Given the description of an element on the screen output the (x, y) to click on. 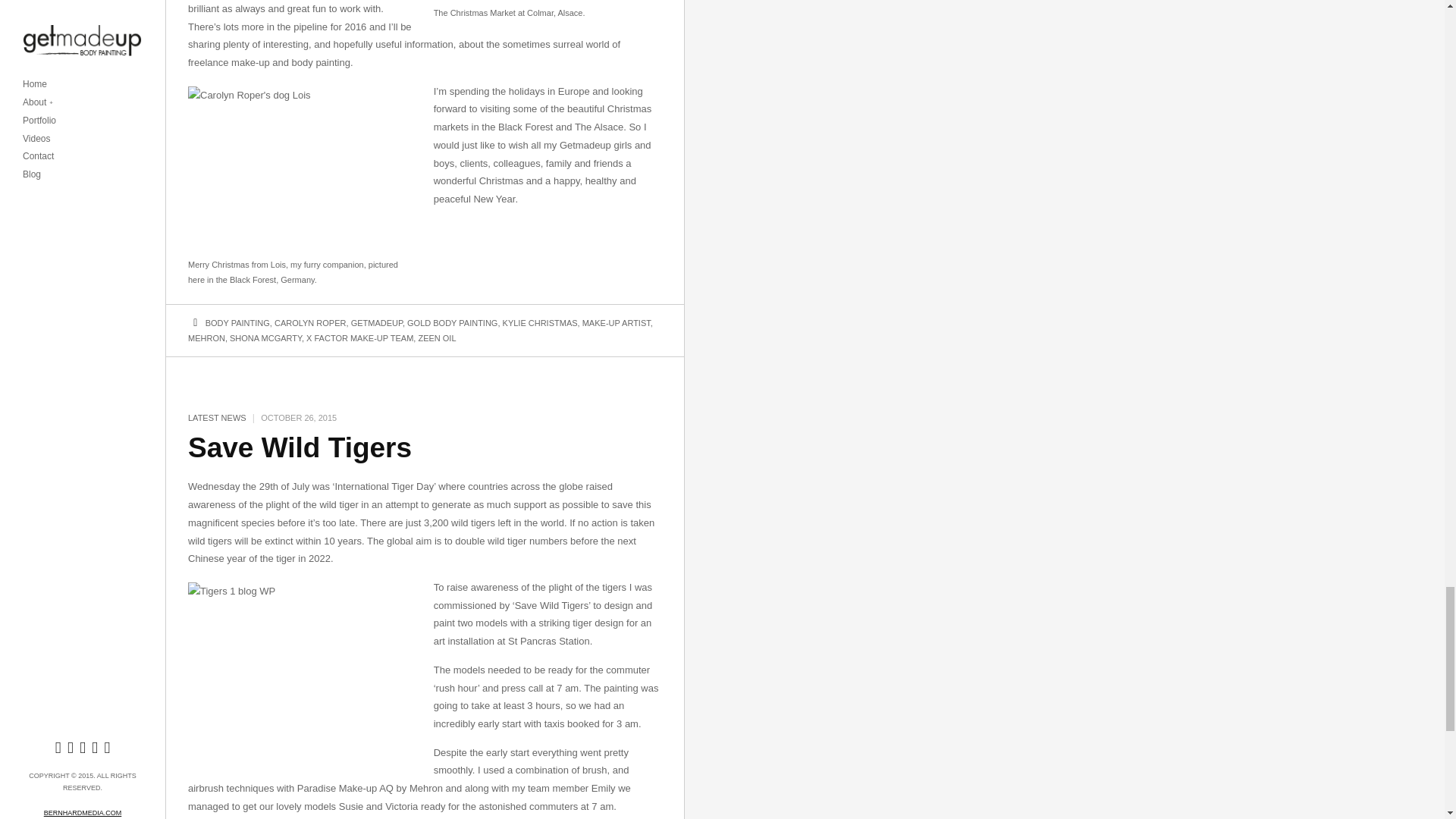
Permanent Link to Save Wild Tigers (299, 447)
